Given the description of an element on the screen output the (x, y) to click on. 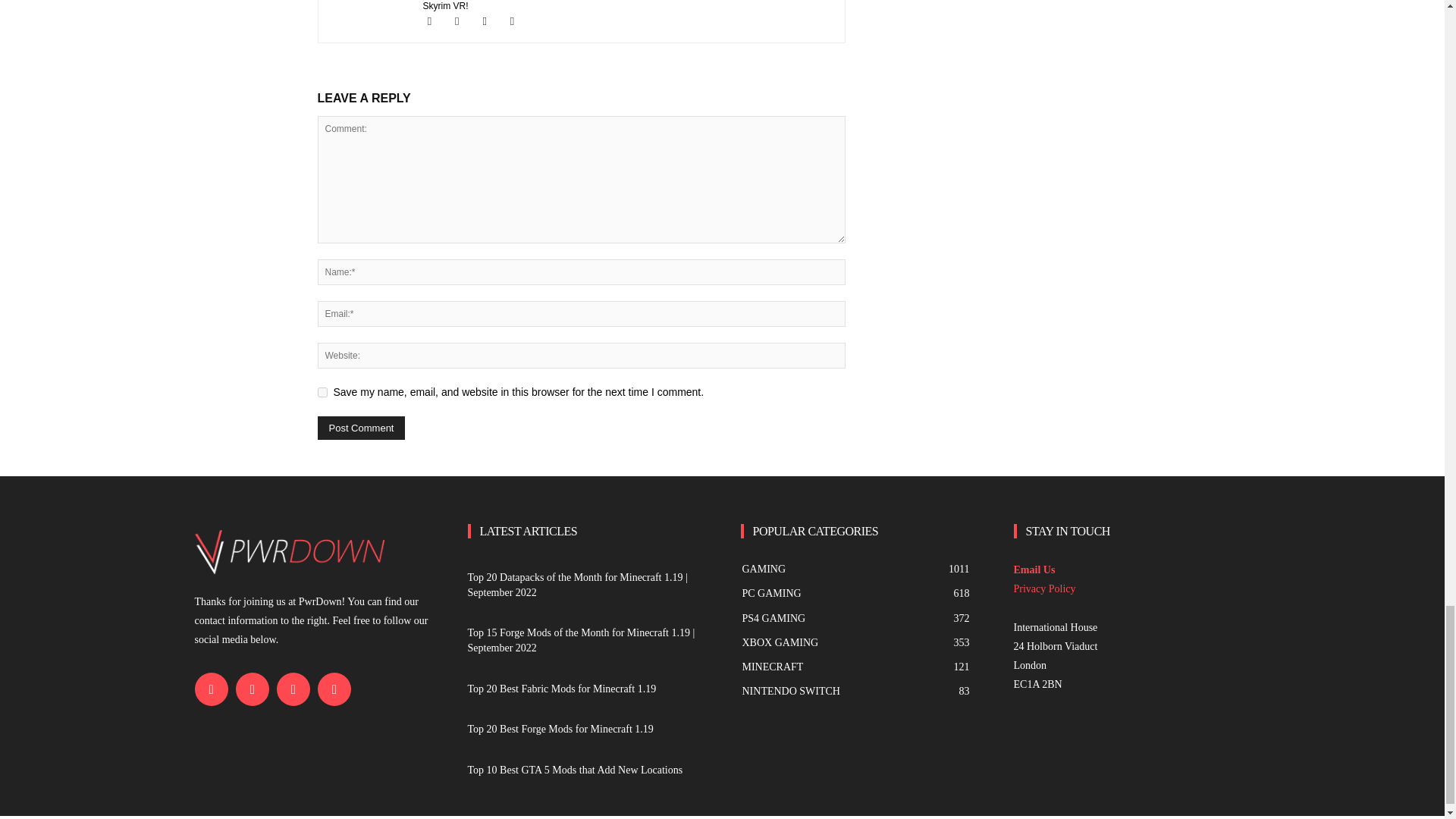
Post Comment (360, 427)
yes (321, 392)
Facebook (436, 21)
